Given the description of an element on the screen output the (x, y) to click on. 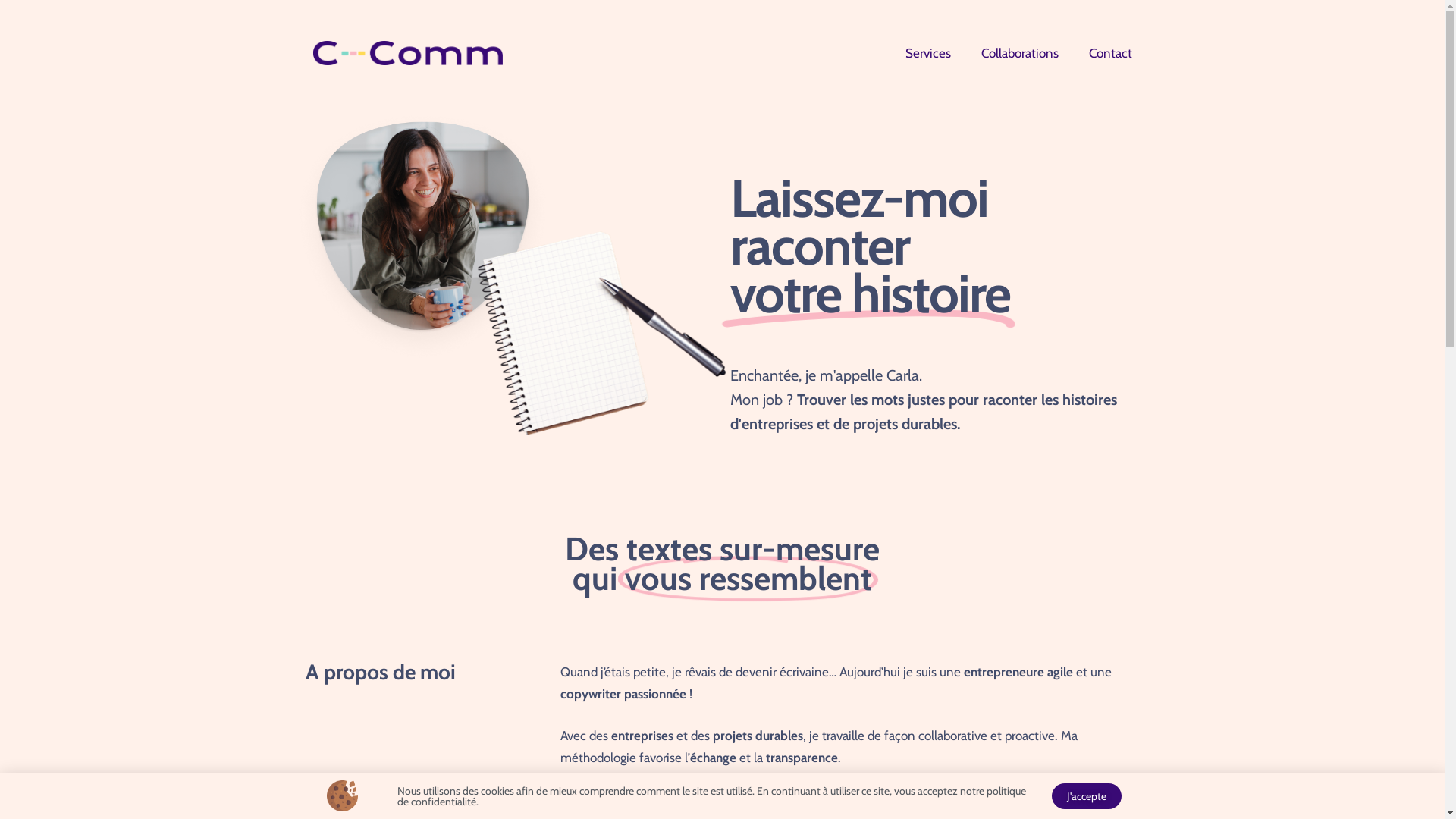
Contact Element type: text (1110, 52)
J'accepte Element type: text (1086, 795)
C-Comm Element type: hover (407, 52)
Collaborations Element type: text (1019, 52)
Services Element type: text (928, 52)
C-Comm Element type: hover (407, 51)
